Given the description of an element on the screen output the (x, y) to click on. 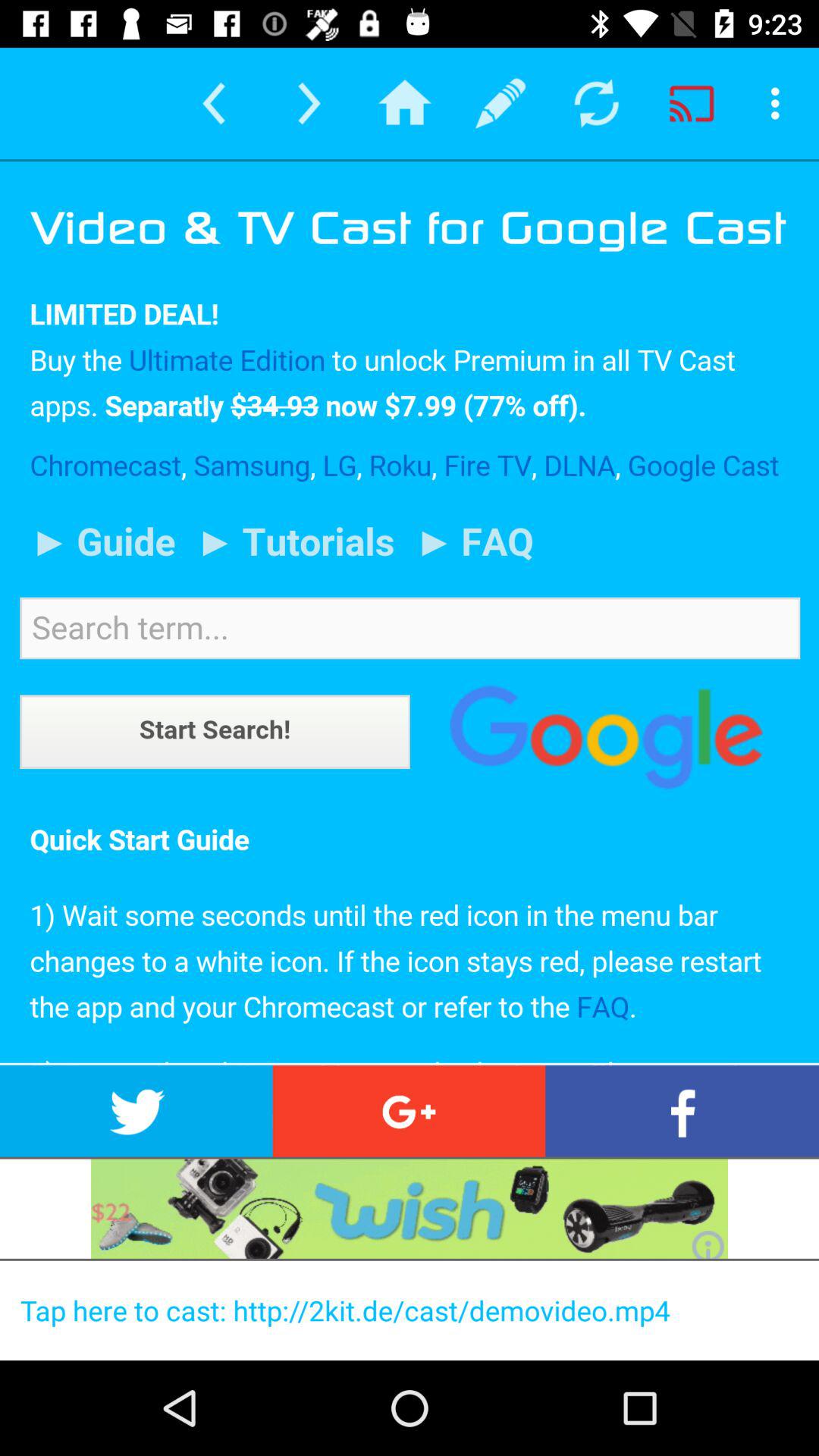
click the wish advertisement (409, 1208)
